Given the description of an element on the screen output the (x, y) to click on. 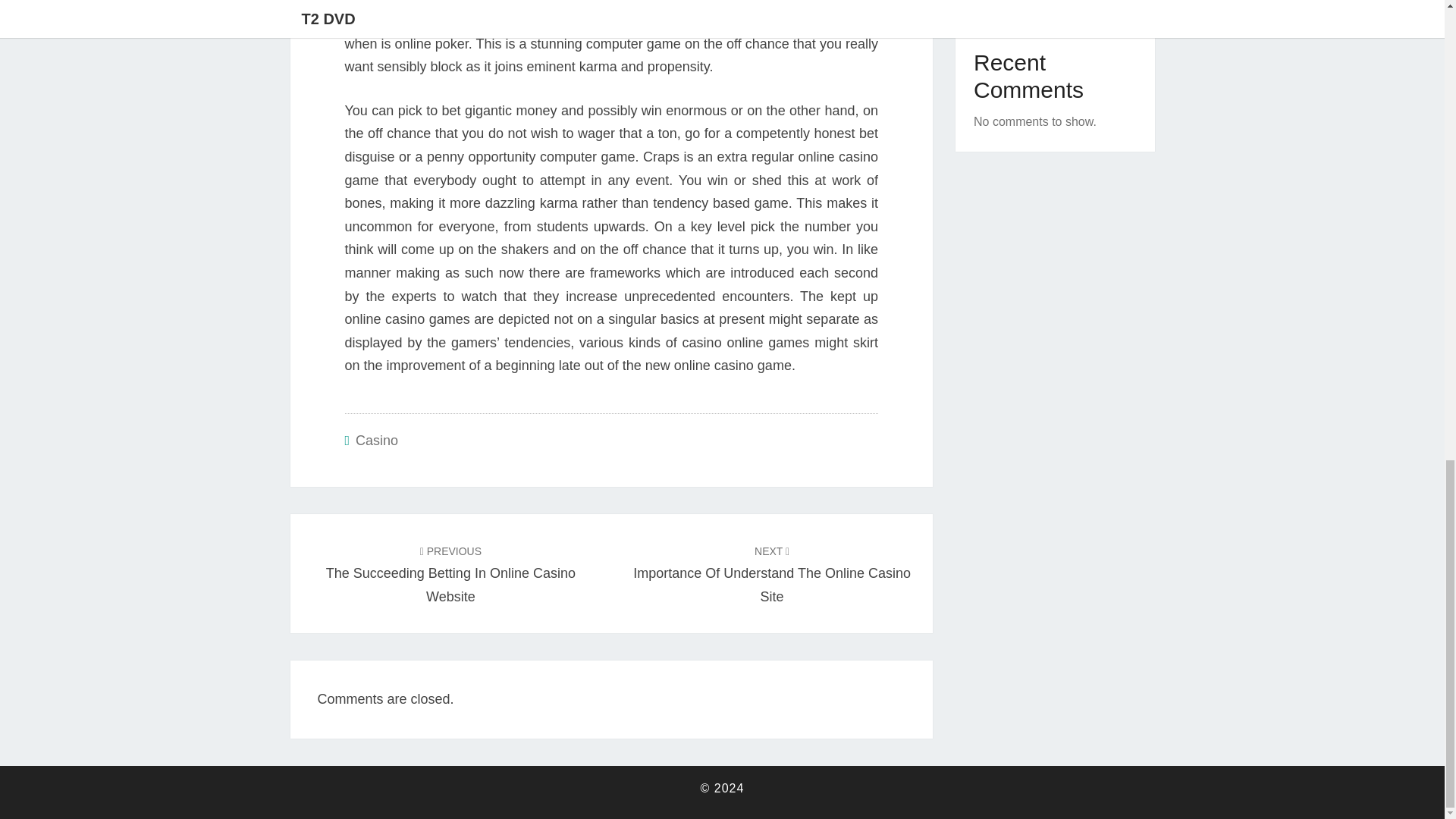
w88.com (462, 20)
Casino (772, 573)
